Given the description of an element on the screen output the (x, y) to click on. 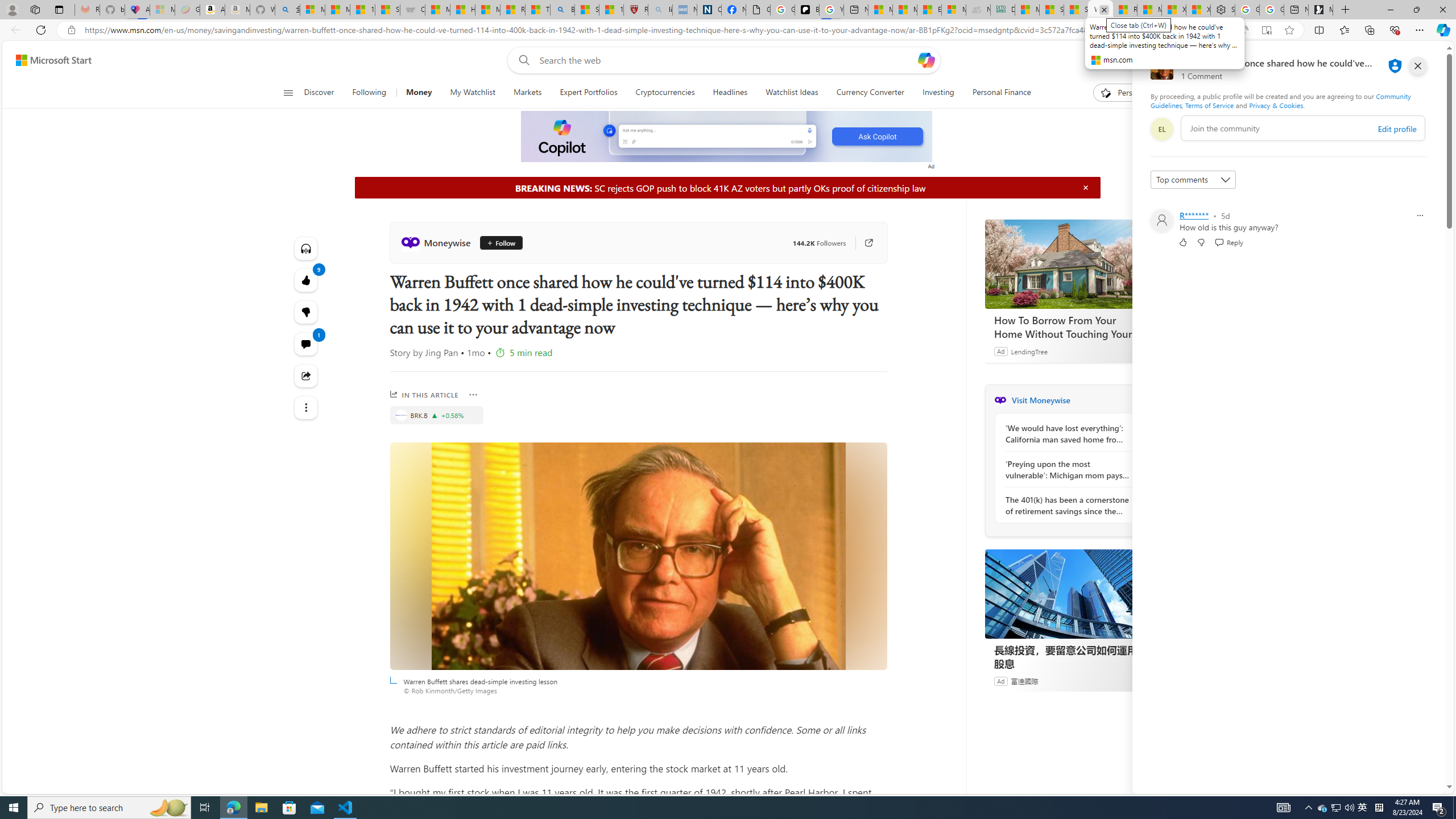
Price increase (434, 414)
LendingTree (1029, 351)
Watchlist Ideas (792, 92)
Profile Picture (1161, 220)
